Given the description of an element on the screen output the (x, y) to click on. 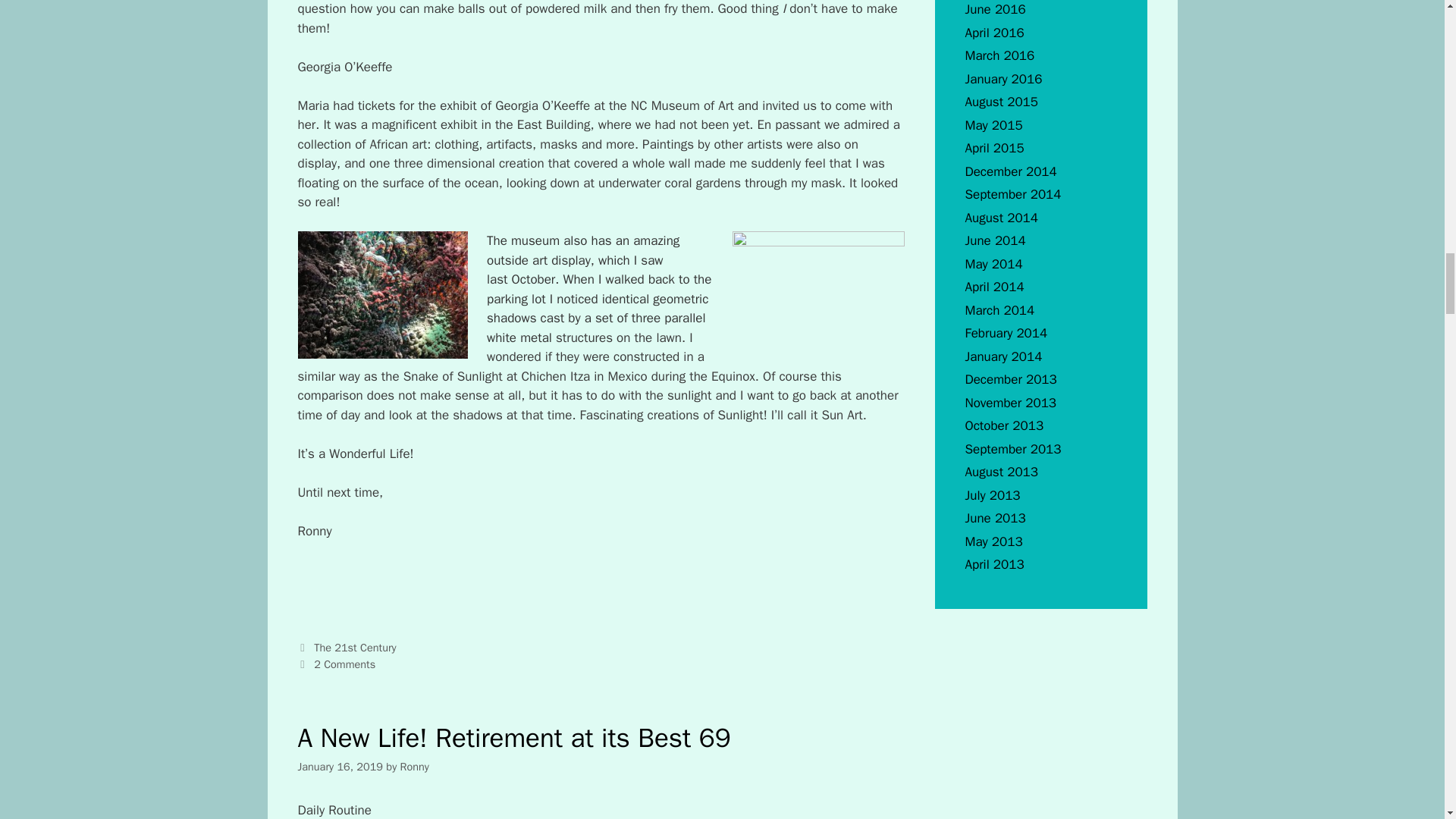
2 Comments (344, 663)
Ronny (414, 766)
View all posts by Ronny (414, 766)
The 21st Century (355, 647)
A New Life! Retirement at its Best 69 (513, 737)
